Given the description of an element on the screen output the (x, y) to click on. 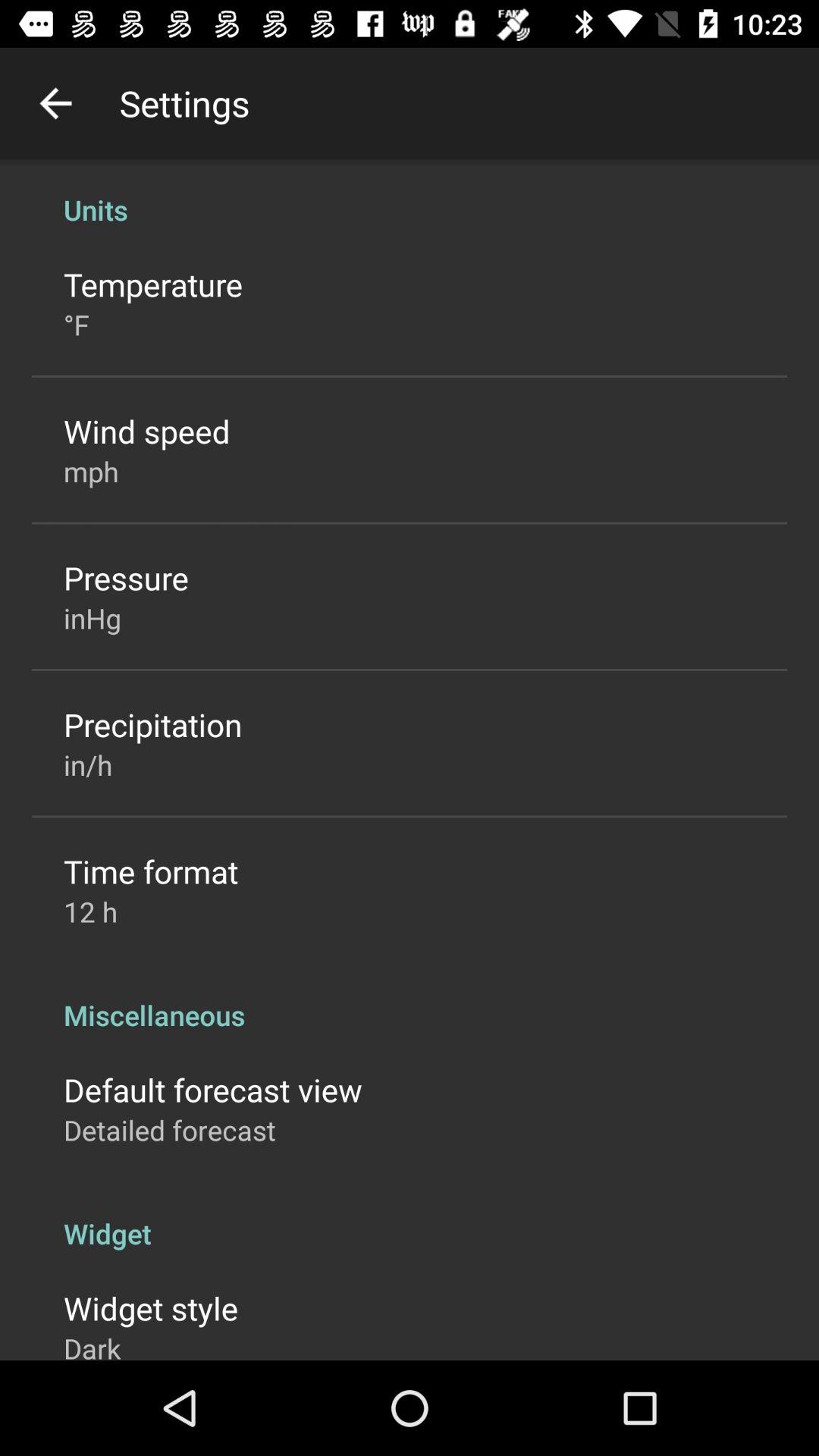
go to previous (55, 103)
